Given the description of an element on the screen output the (x, y) to click on. 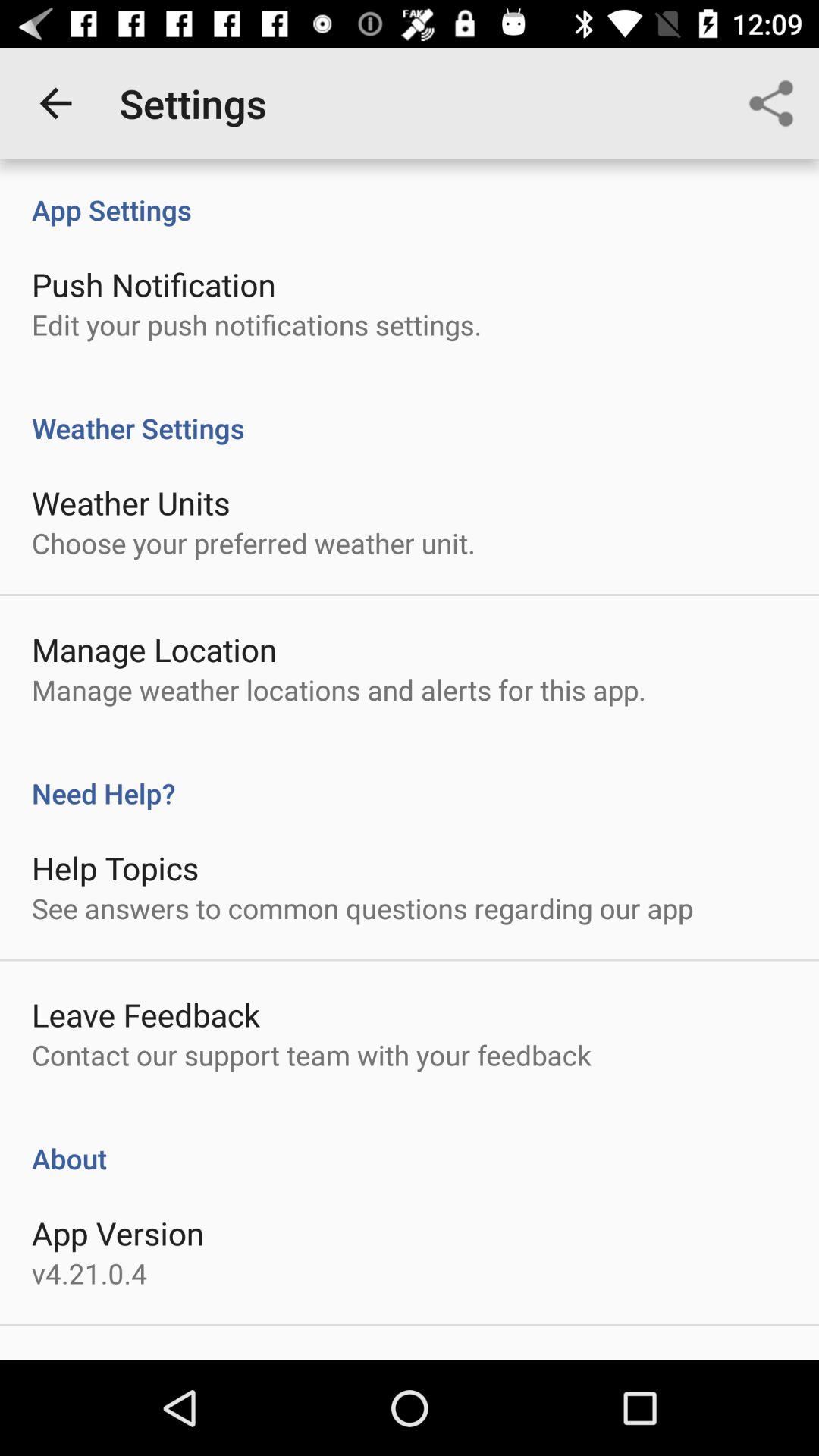
turn on the icon above the see answers to (115, 867)
